Given the description of an element on the screen output the (x, y) to click on. 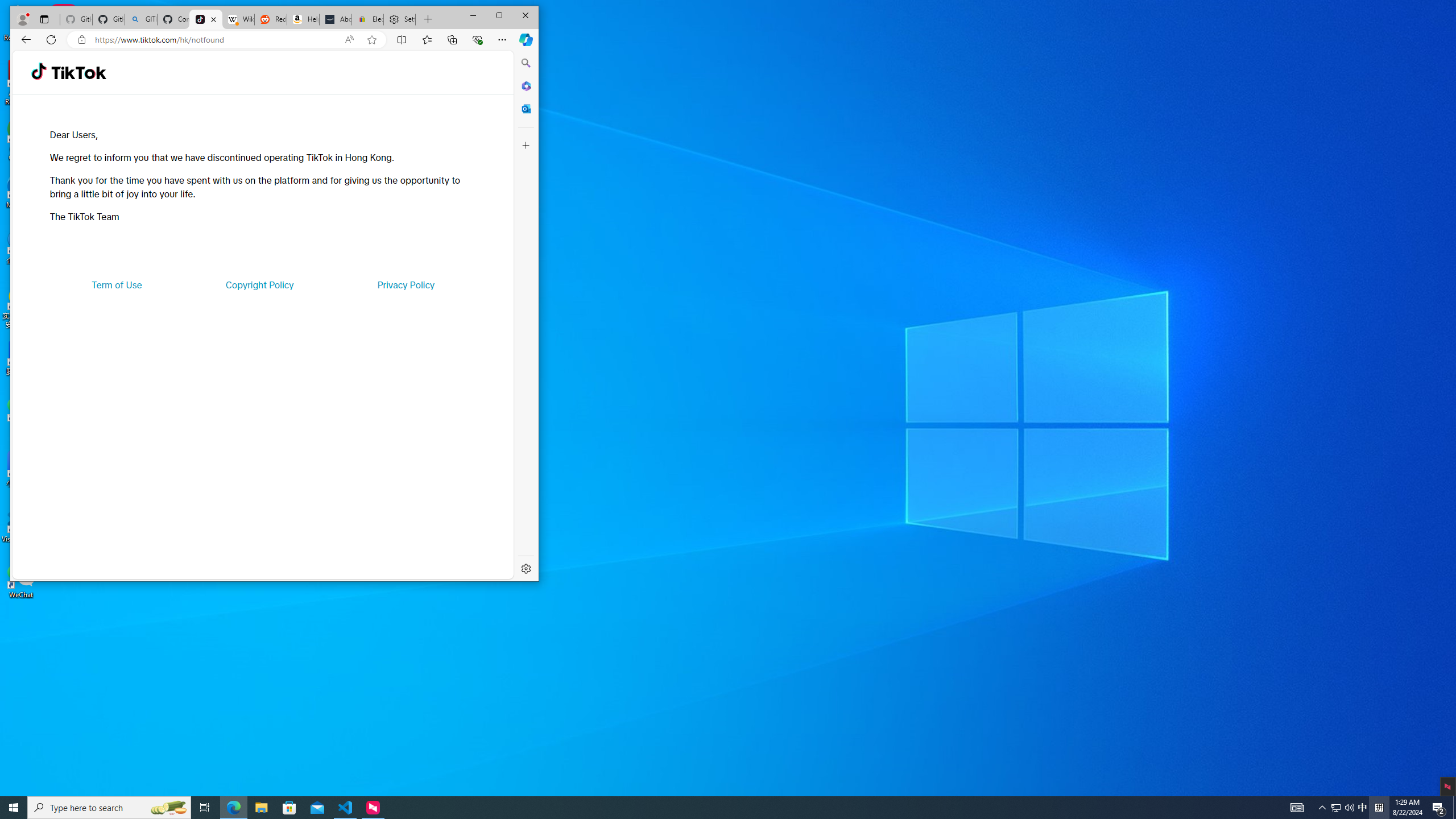
TikTok (205, 19)
Type here to search (108, 807)
Microsoft Store (289, 807)
TikTok (78, 72)
Q2790: 100% (1349, 807)
Tray Input Indicator - Chinese (Simplified, China) (1378, 807)
Search highlights icon opens search home window (167, 807)
Running applications (707, 807)
